Given the description of an element on the screen output the (x, y) to click on. 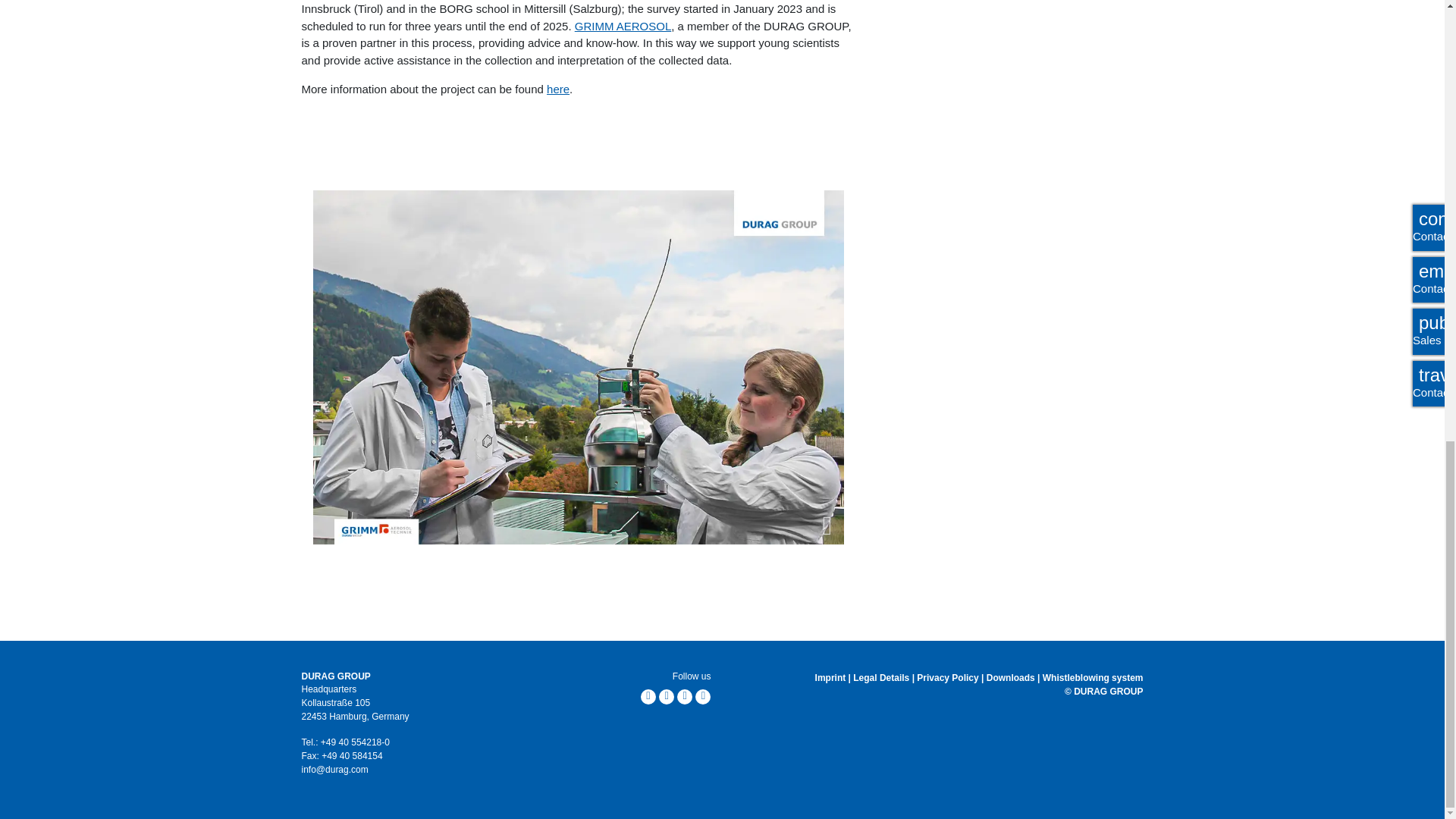
Xing (666, 695)
Facebook (685, 695)
LinkedIn (648, 695)
Youtube (702, 695)
